Given the description of an element on the screen output the (x, y) to click on. 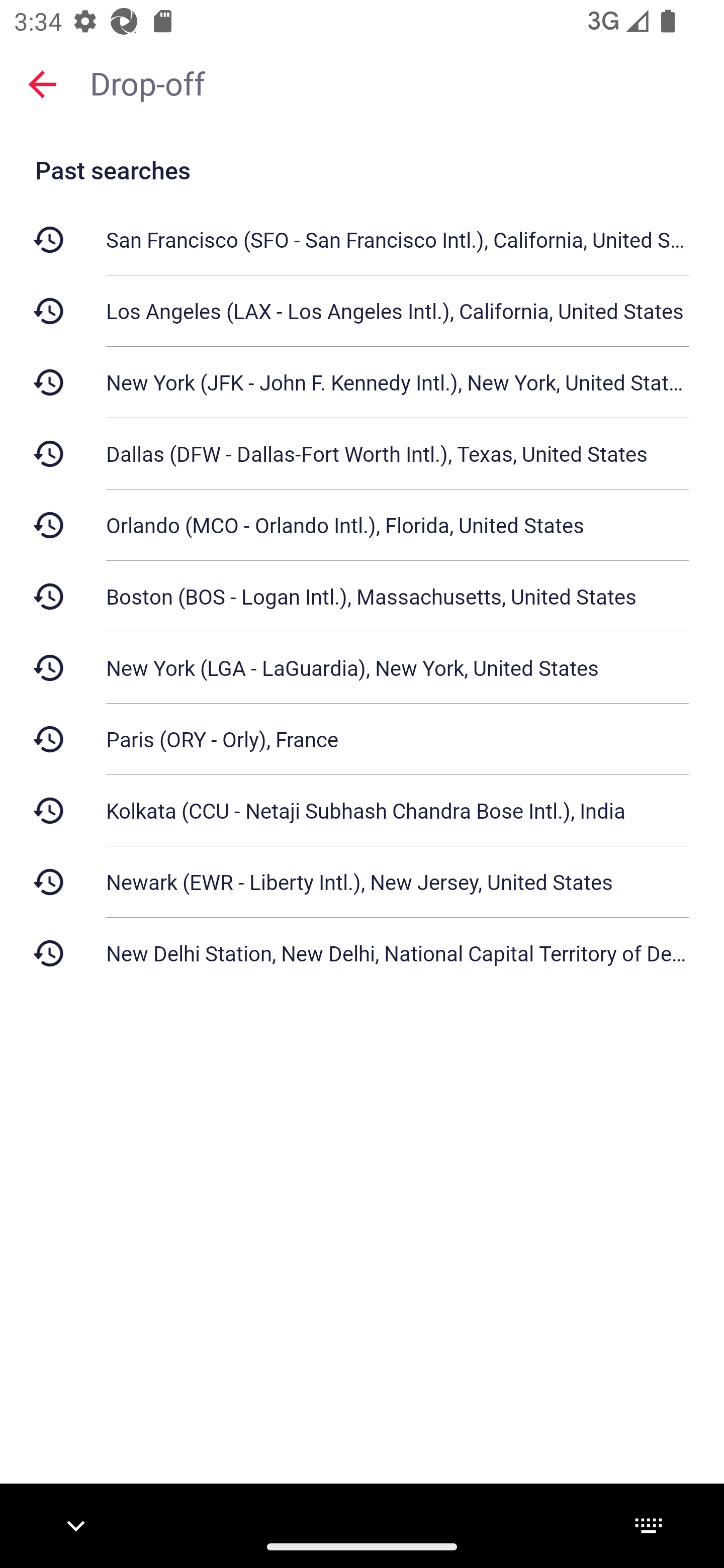
Drop-off,  (397, 82)
Close search screen (41, 83)
